Given the description of an element on the screen output the (x, y) to click on. 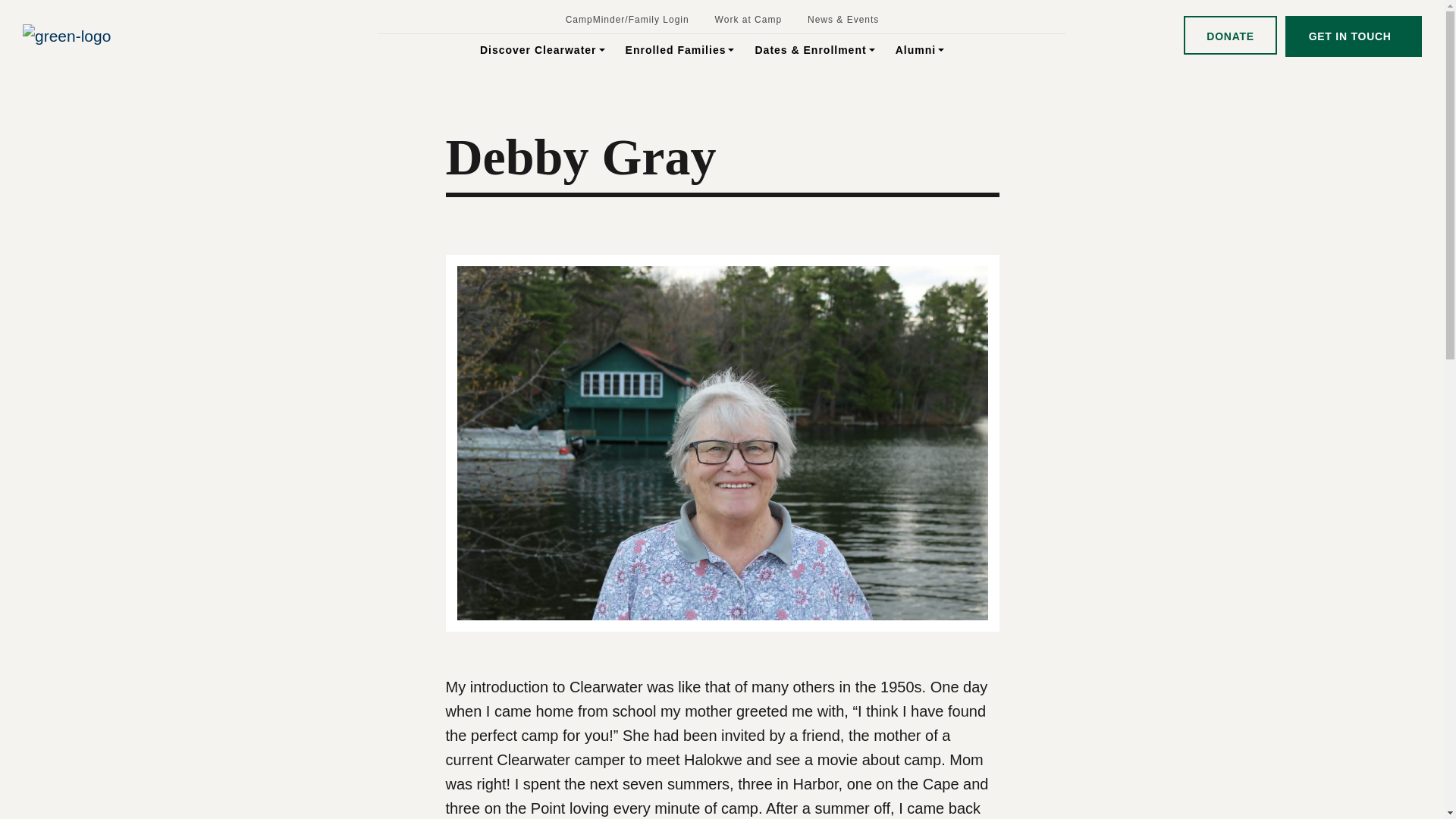
Get in touch (1353, 35)
DONATE  (1229, 34)
green-logo (66, 35)
